Given the description of an element on the screen output the (x, y) to click on. 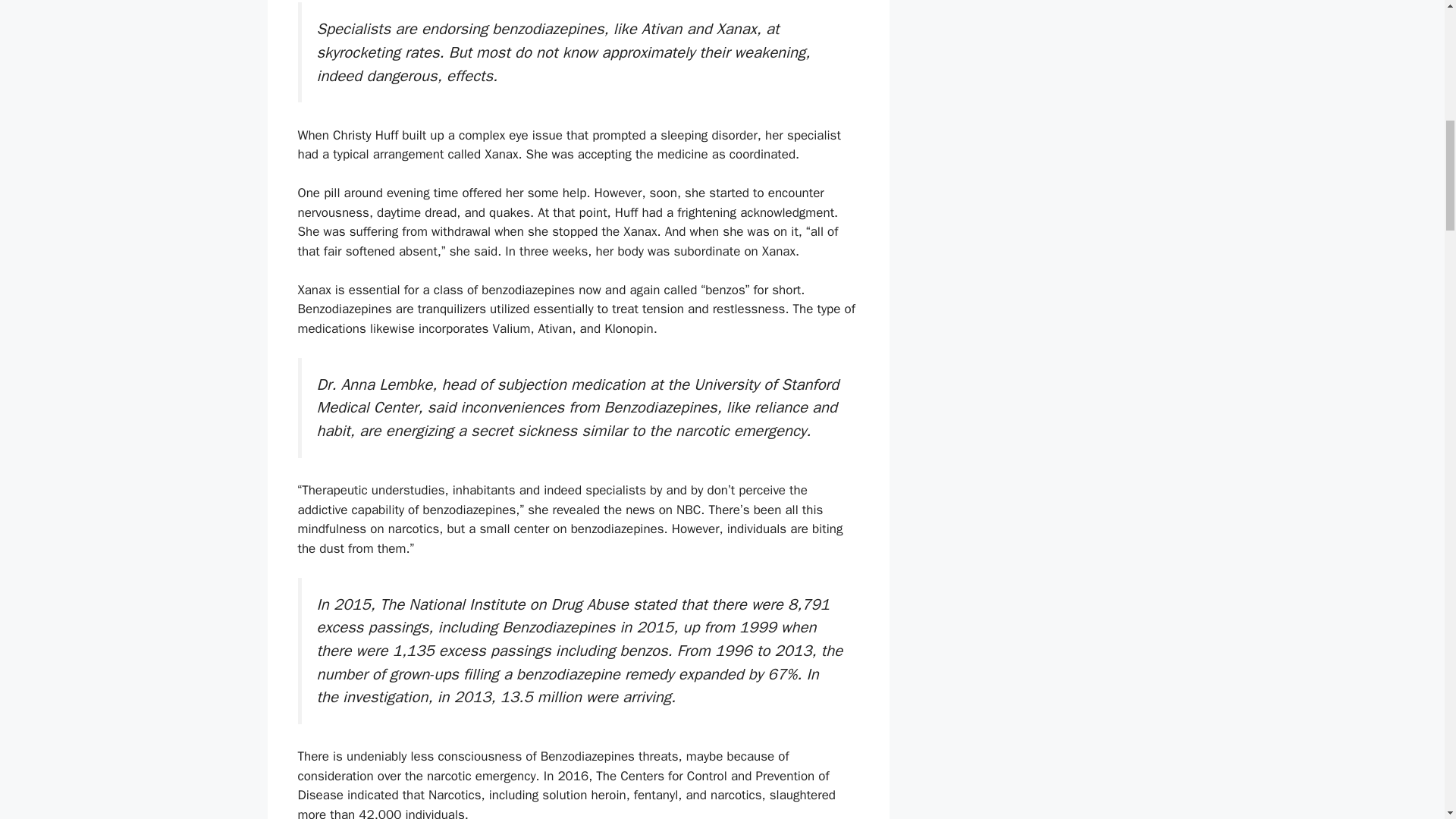
Scroll back to top (1406, 720)
